Given the description of an element on the screen output the (x, y) to click on. 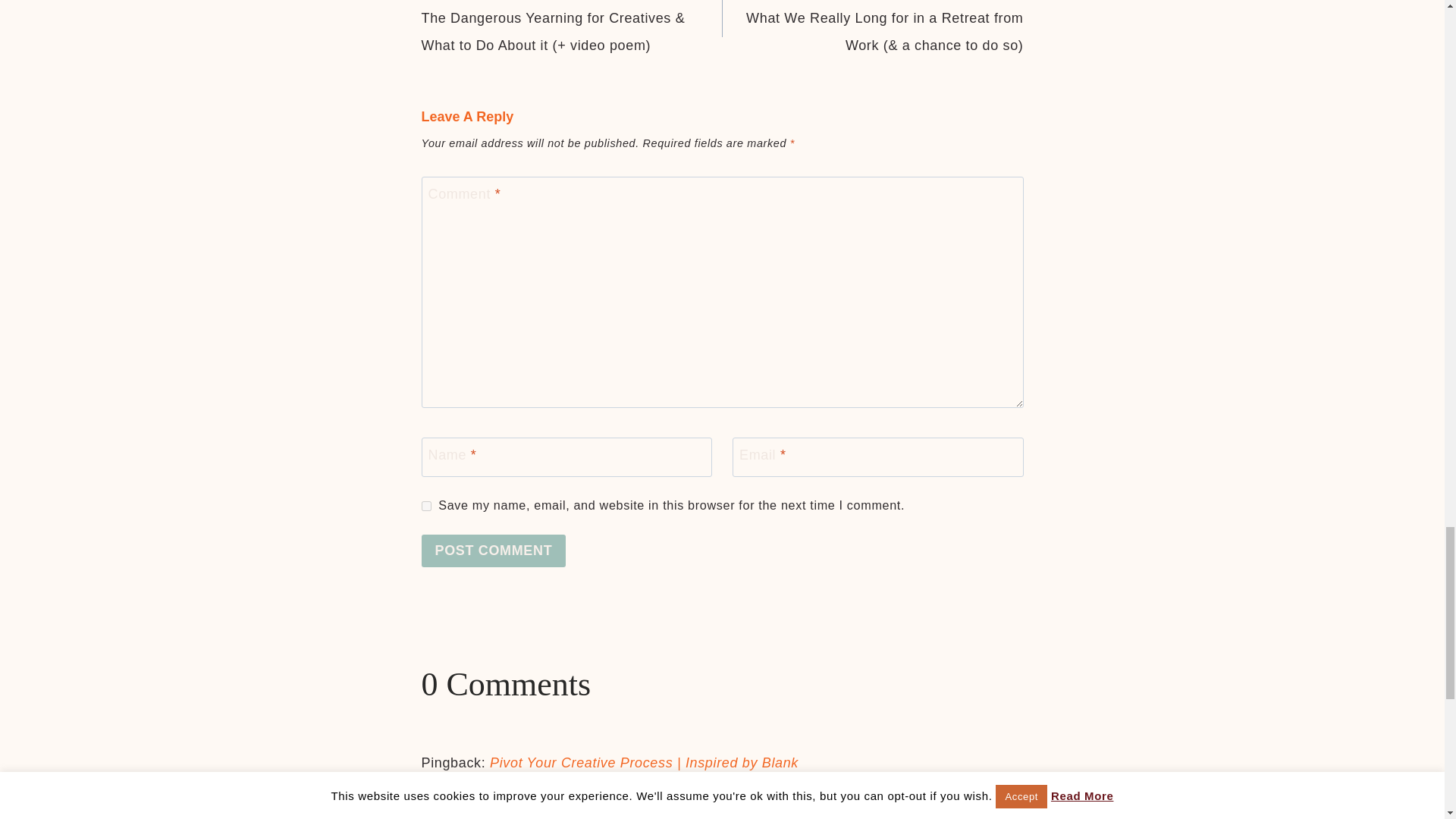
Post Comment (494, 550)
yes (426, 505)
